Given the description of an element on the screen output the (x, y) to click on. 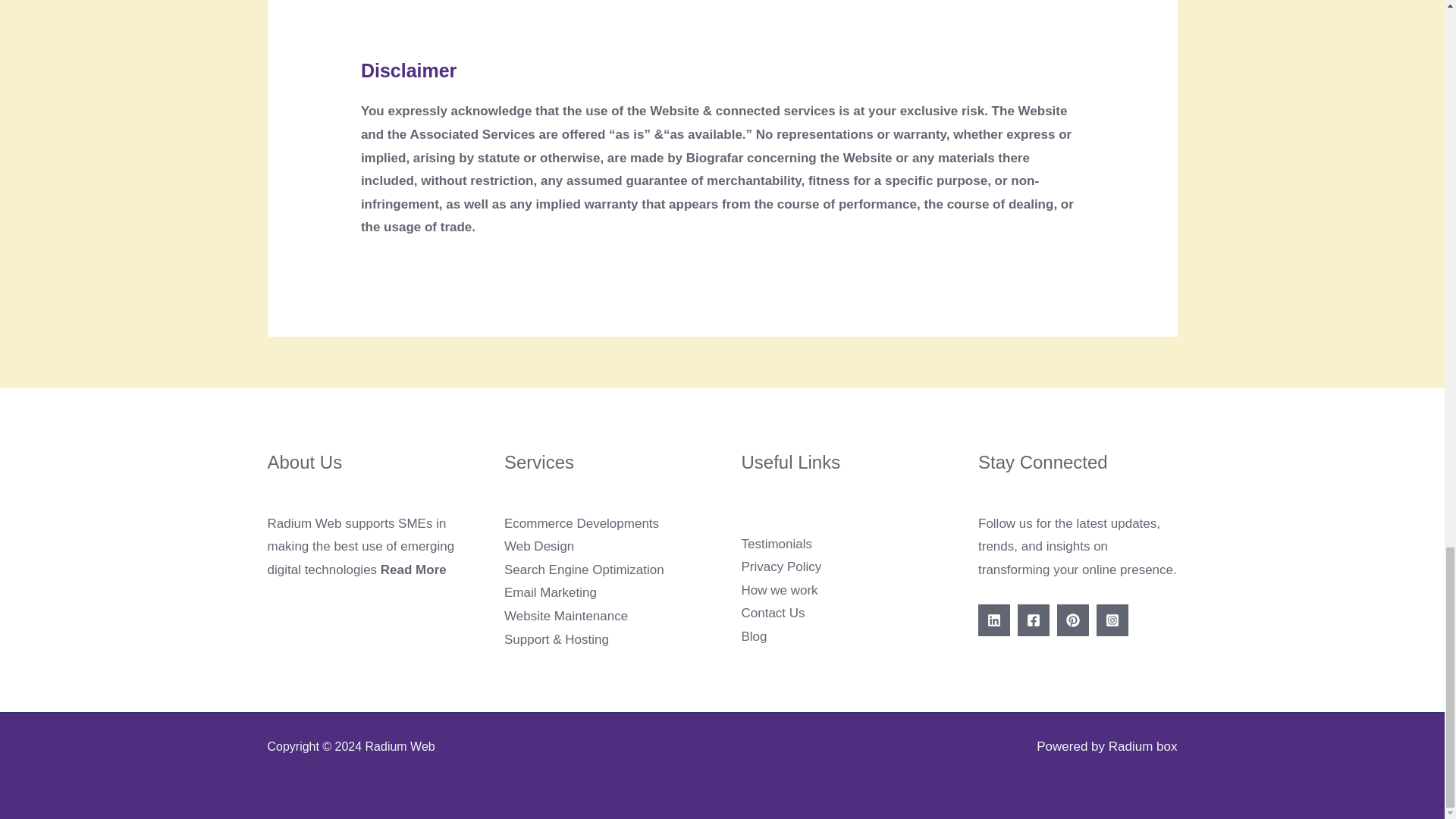
Read More (413, 569)
How we work (779, 590)
Email Marketing (549, 592)
Web Design (538, 545)
Privacy Policy (781, 566)
Website Maintenance (565, 616)
Testimonials (776, 544)
Blog (754, 636)
Search Engine Optimization (583, 569)
Ecommerce Developments (581, 523)
Contact Us (773, 612)
